Given the description of an element on the screen output the (x, y) to click on. 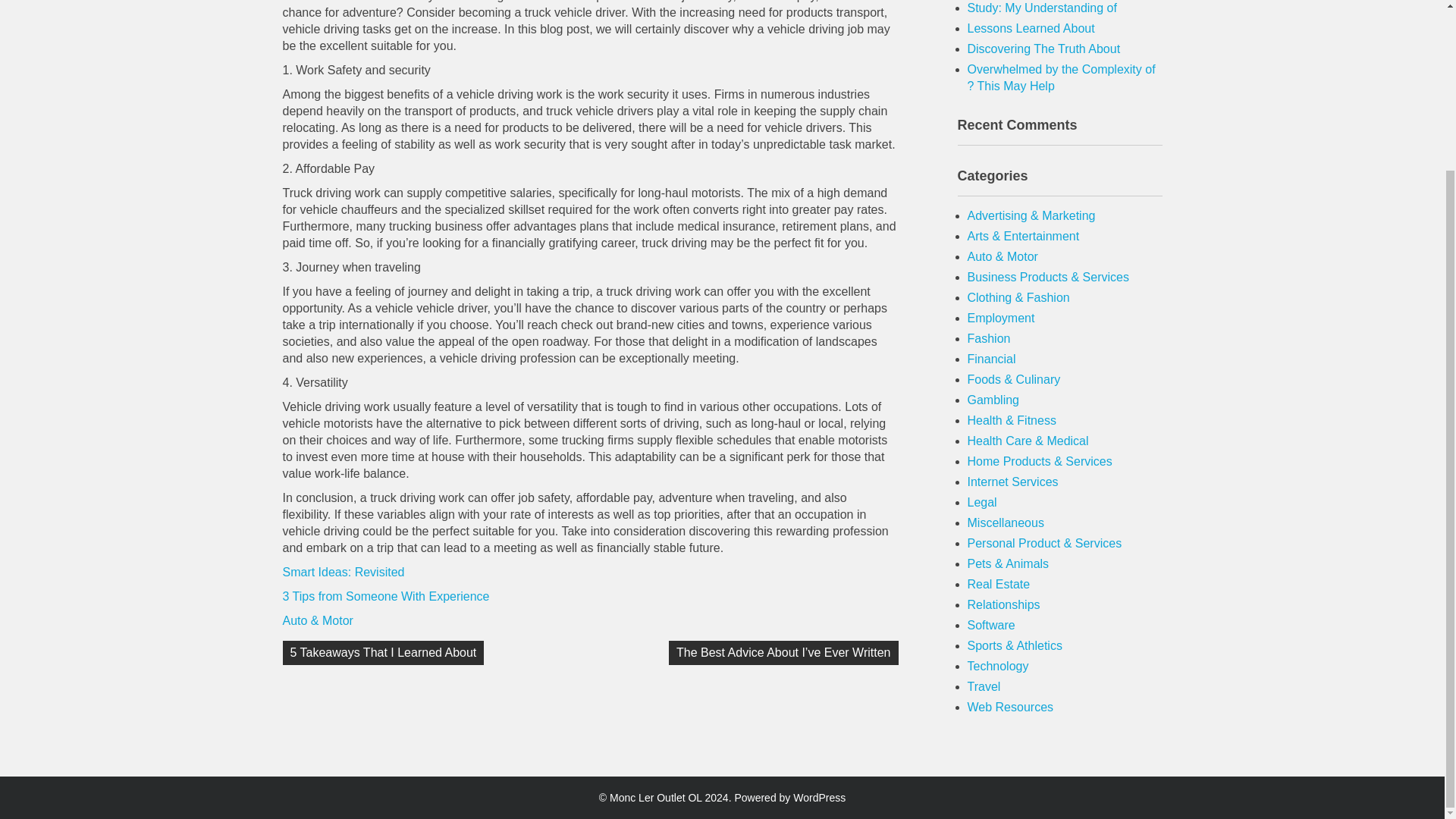
Discovering The Truth About (1044, 48)
Internet Services (1013, 481)
Study: My Understanding of (1042, 7)
Employment (1001, 318)
Gambling (993, 399)
Financial (992, 358)
5 Takeaways That I Learned About (382, 652)
Software (991, 625)
Overwhelmed by the Complexity of ? This May Help (1062, 77)
Smart Ideas: Revisited (343, 571)
Fashion (989, 338)
Technology (998, 666)
Legal (982, 502)
Relationships (1004, 604)
Lessons Learned About (1031, 28)
